Given the description of an element on the screen output the (x, y) to click on. 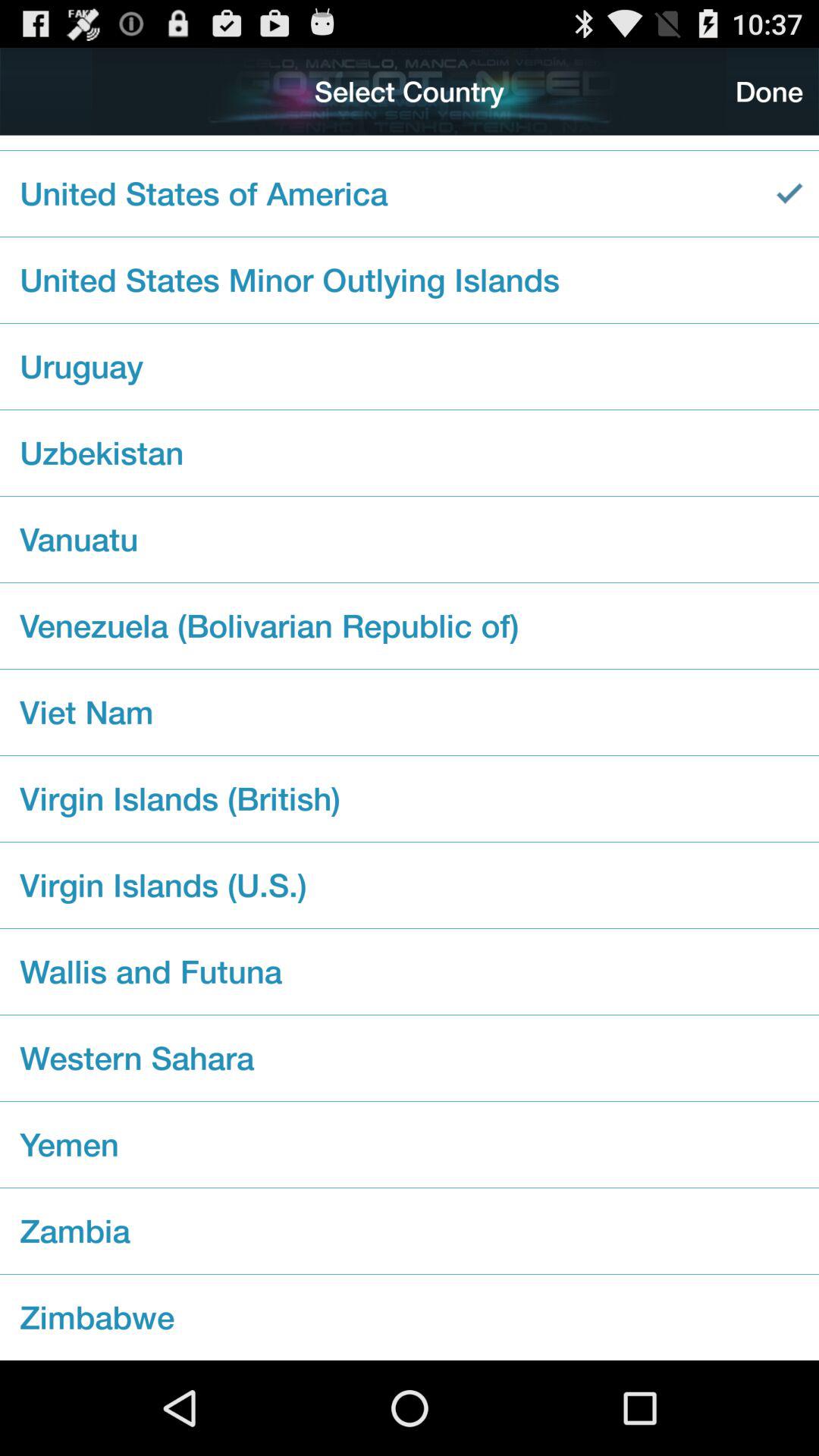
launch the wallis and futuna (409, 971)
